Given the description of an element on the screen output the (x, y) to click on. 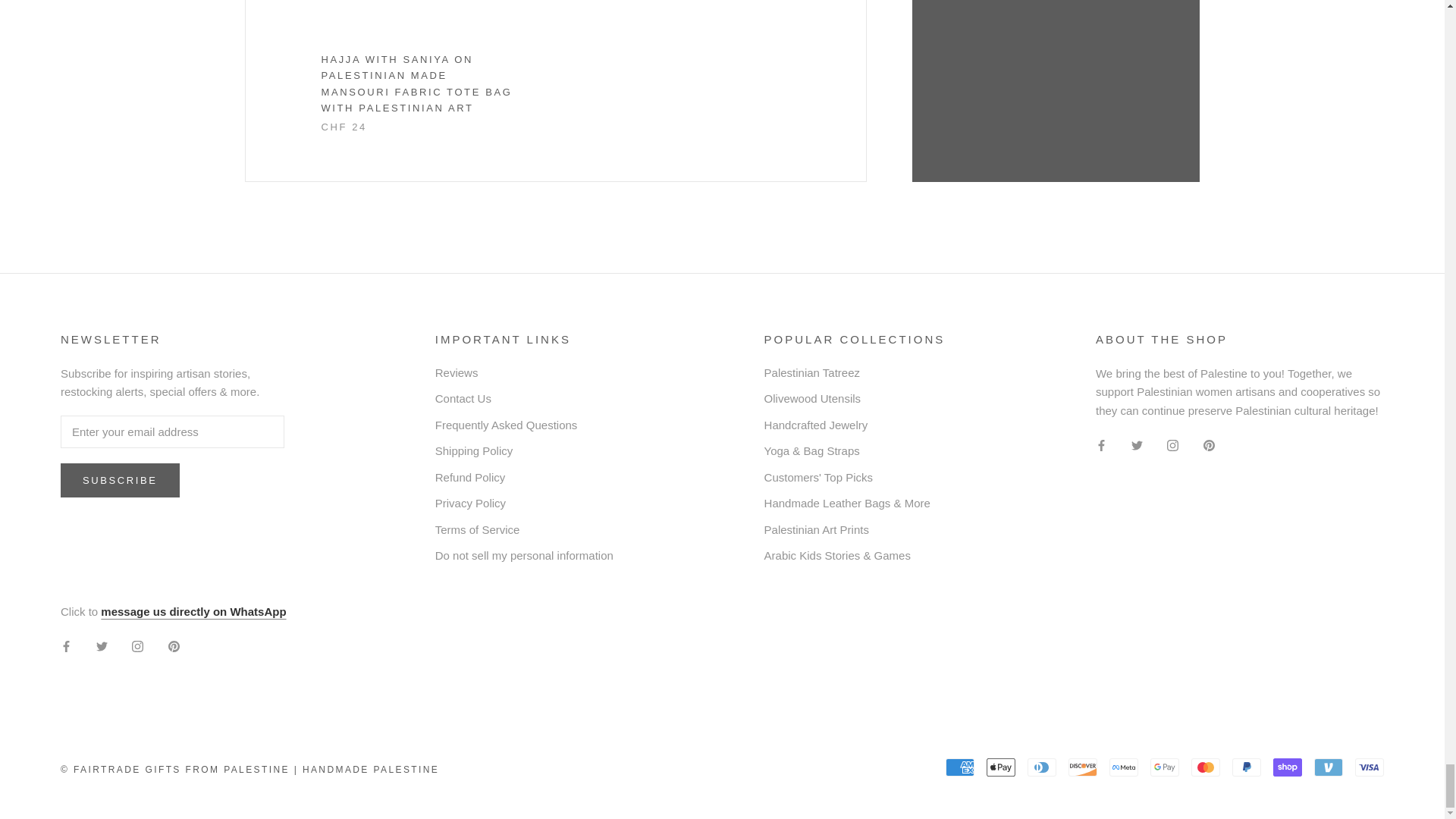
PayPal (1245, 767)
Apple Pay (1000, 767)
Mastercard (1205, 767)
Diners Club (1042, 767)
Google Pay (1164, 767)
Discover (1082, 767)
Meta Pay (1123, 767)
Shop Pay (1286, 767)
American Express (959, 767)
